Given the description of an element on the screen output the (x, y) to click on. 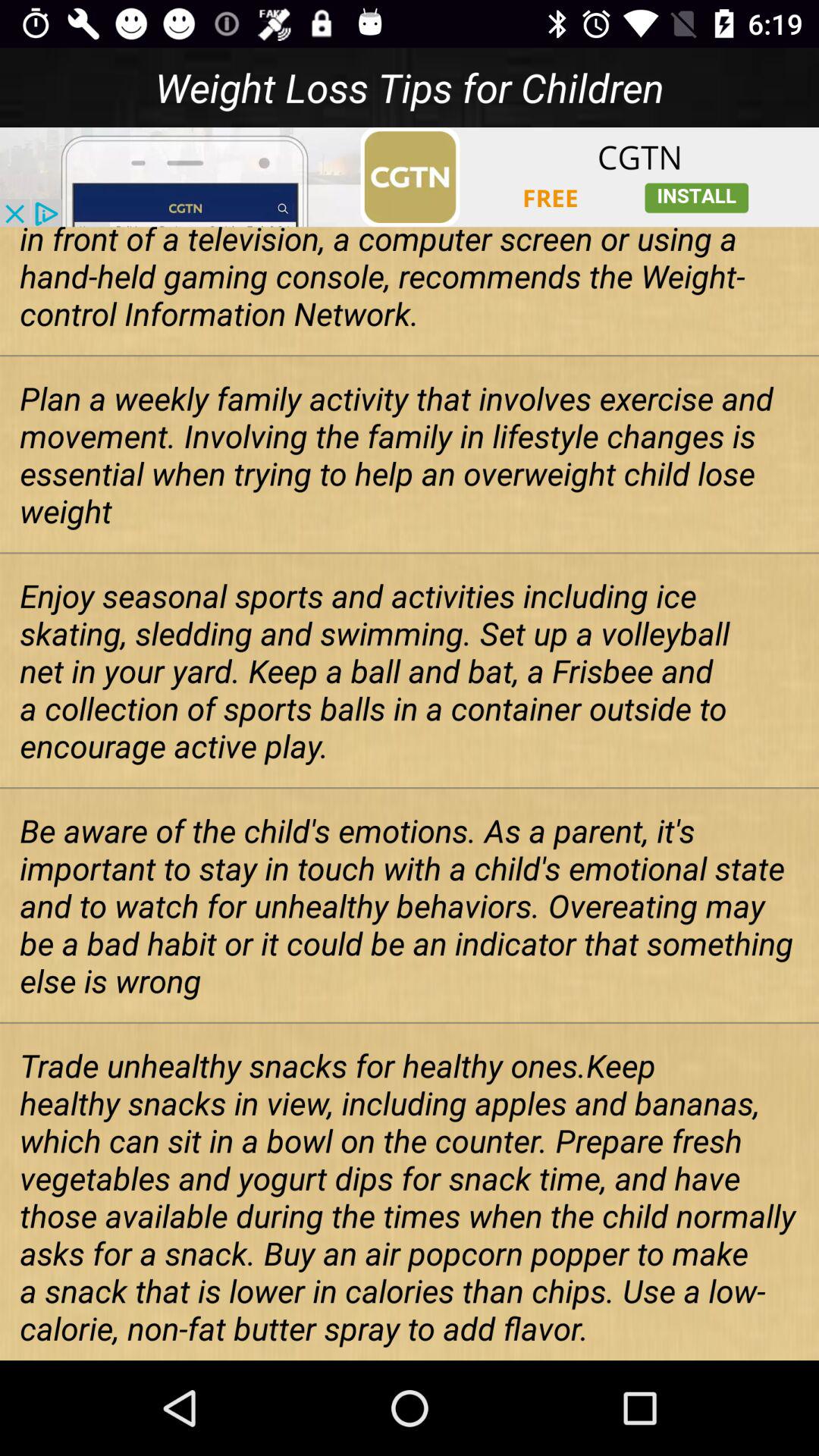
advertisement (409, 176)
